Given the description of an element on the screen output the (x, y) to click on. 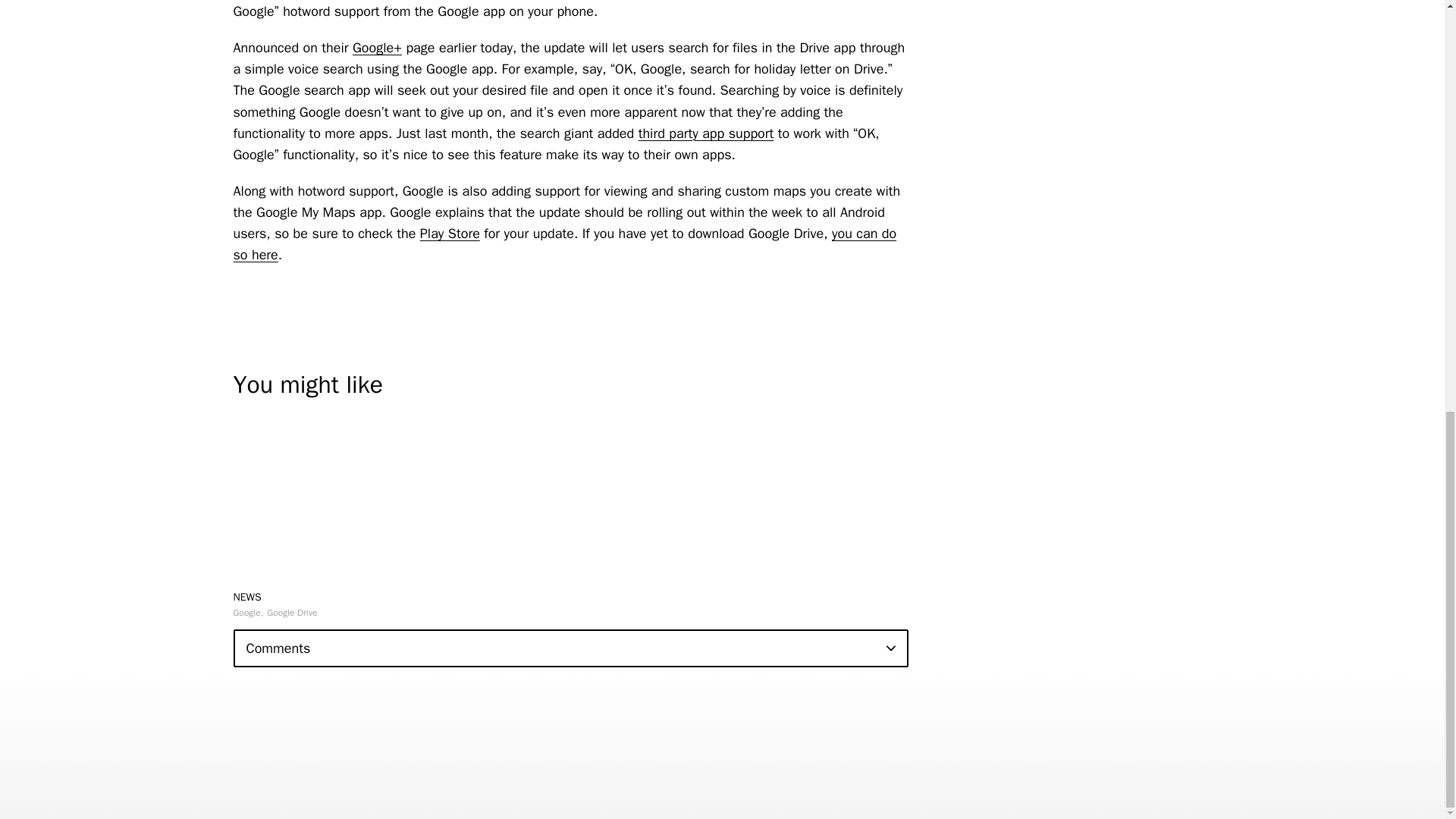
third party app support (706, 133)
Play Store (450, 233)
Google (247, 612)
you can do so here (564, 243)
Google Drive (291, 612)
Comments (570, 648)
NEWS (247, 596)
